Given the description of an element on the screen output the (x, y) to click on. 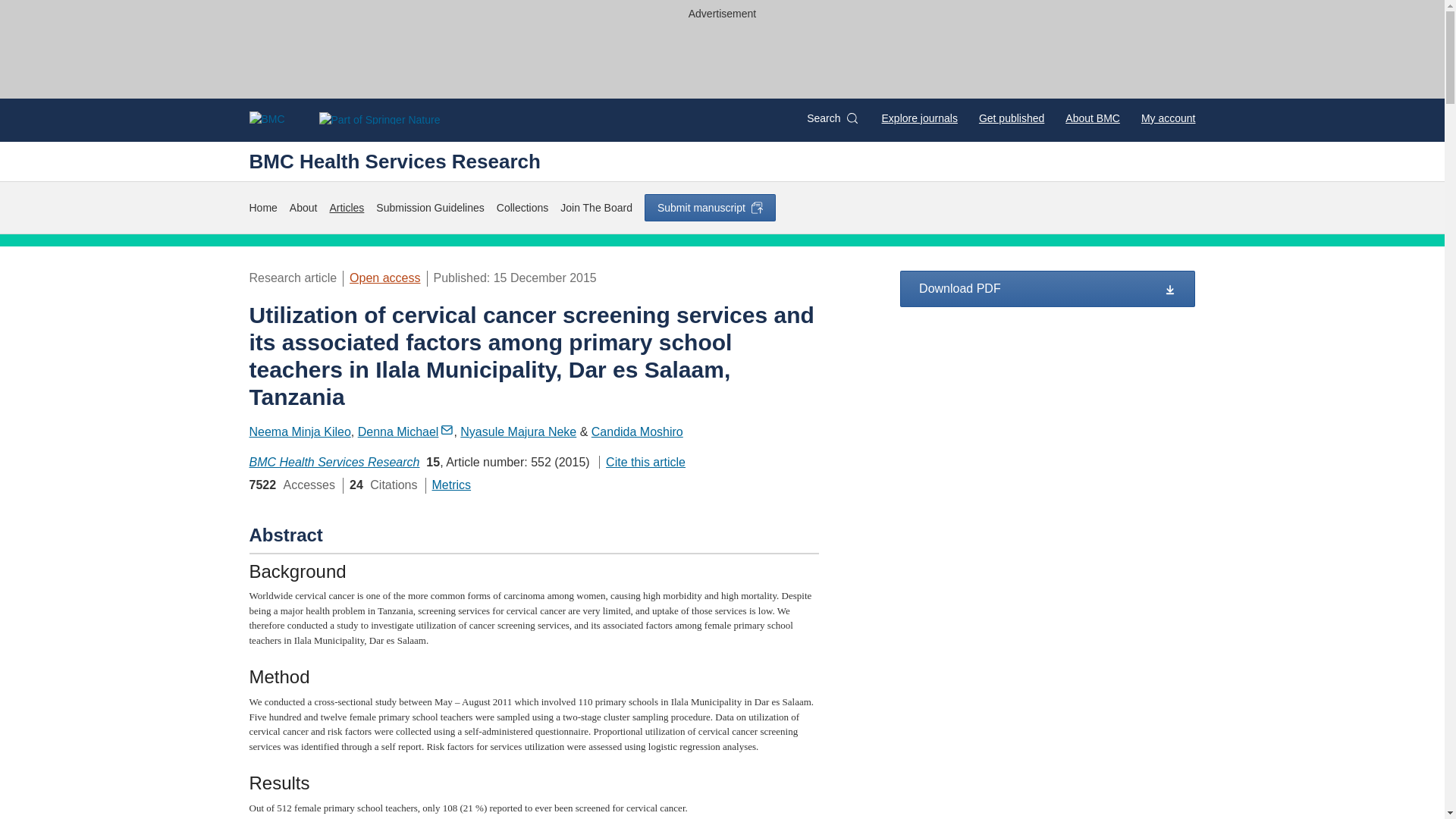
Articles (346, 208)
Submit manuscript (710, 207)
Denna Michael (406, 431)
Explore journals (920, 118)
Join The Board (595, 208)
Home (262, 208)
Neema Minja Kileo (299, 431)
Candida Moshiro (636, 431)
Submission Guidelines (429, 208)
Search (831, 118)
